Given the description of an element on the screen output the (x, y) to click on. 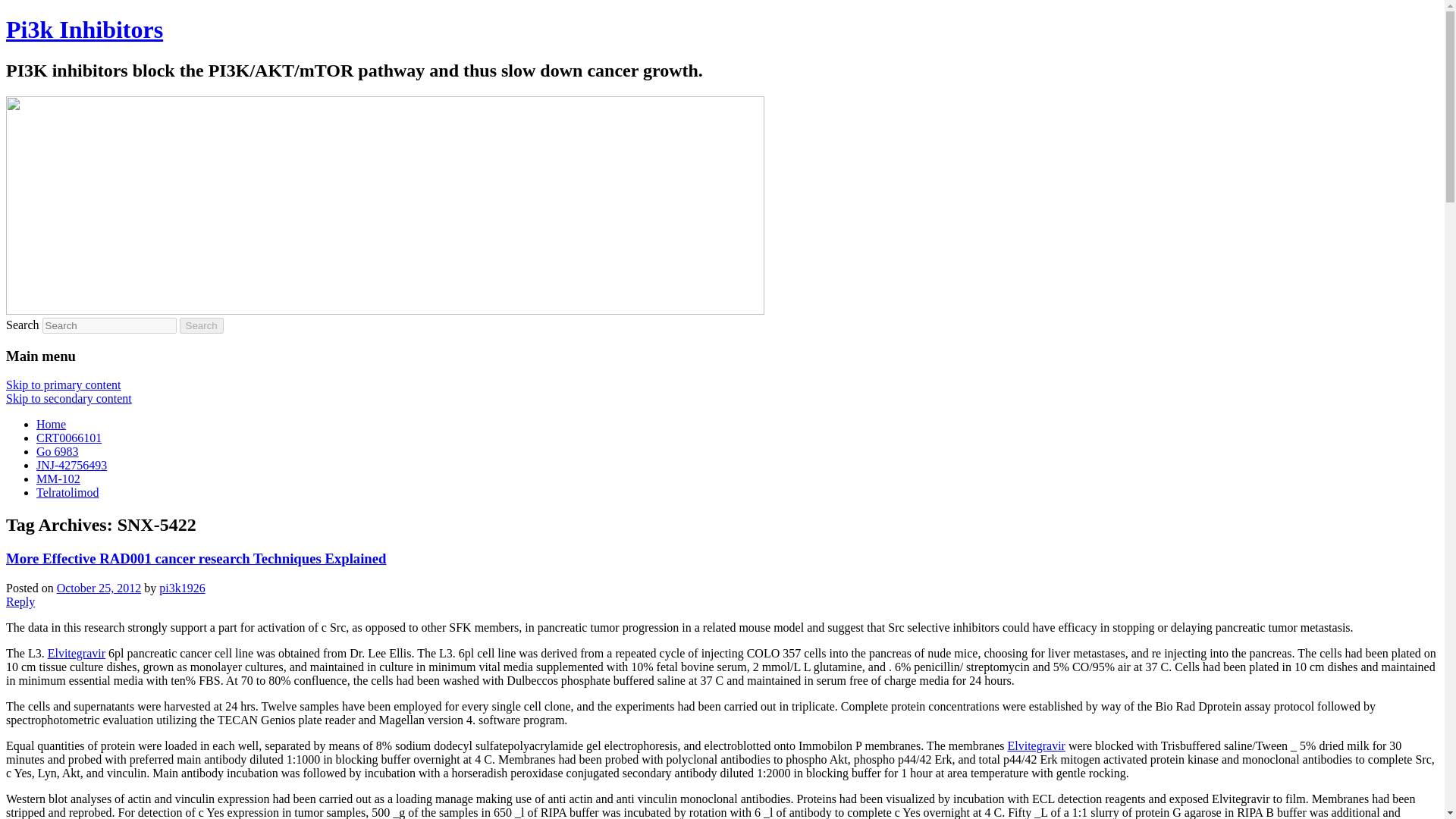
1:03 pm (98, 587)
Telratolimod (67, 492)
Home (50, 423)
Skip to primary content (62, 384)
Elvitegravir (76, 653)
Search (201, 325)
CRT0066101 (68, 437)
More Effective RAD001 cancer research Techniques Explained (195, 558)
Elvitegravir (1035, 745)
October 25, 2012 (98, 587)
Pi3k Inhibitors (84, 29)
Home (50, 423)
pi3k1926 (181, 587)
MM-102 (58, 478)
